Given the description of an element on the screen output the (x, y) to click on. 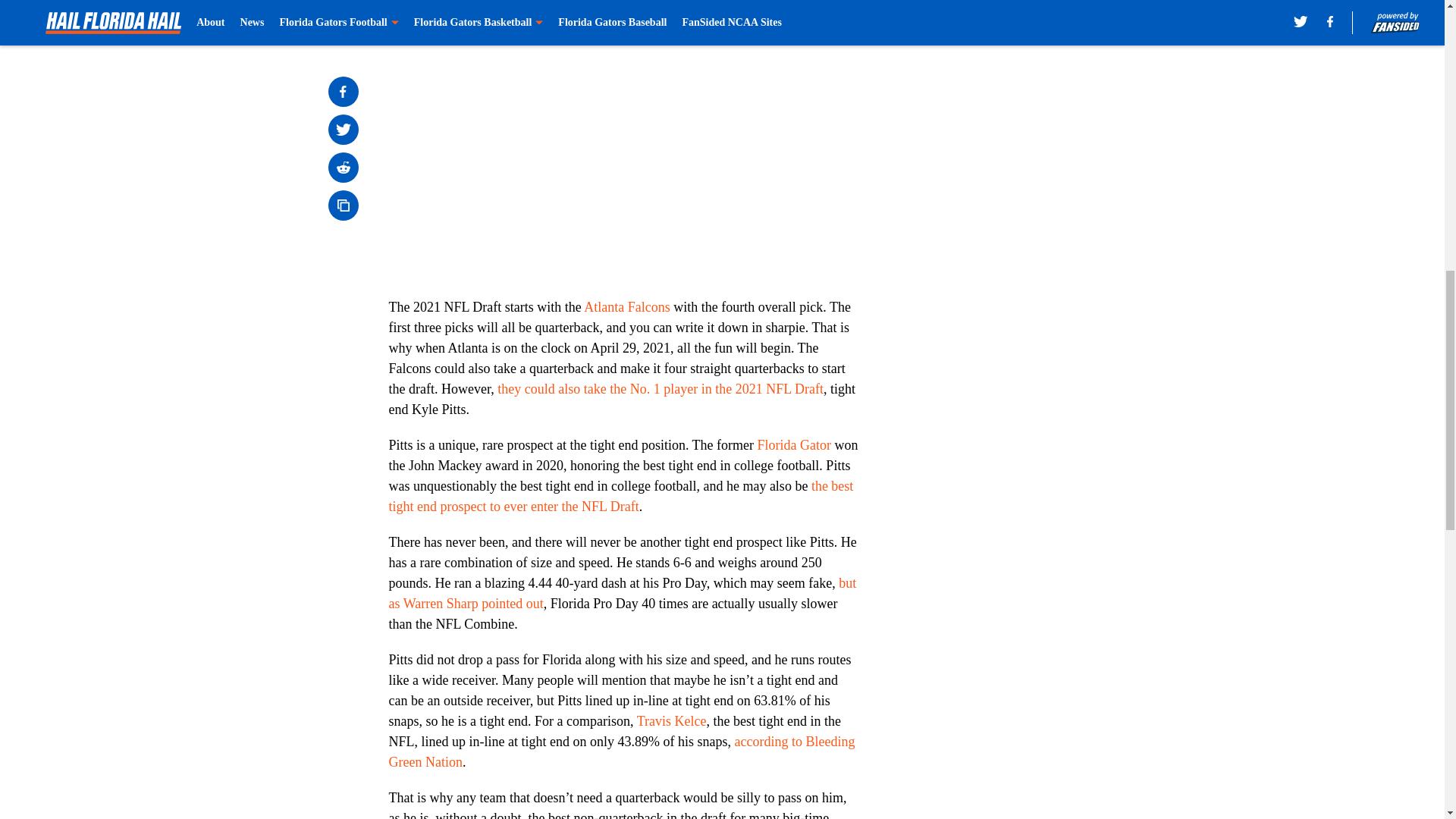
but as Warren Sharp pointed out (622, 592)
Travis Kelce (671, 720)
Florida Gator (794, 444)
the best tight end prospect to ever enter the NFL Draft (620, 496)
Atlanta Falcons (626, 306)
they could also take the No. 1 player in the 2021 NFL Draft (660, 388)
according to Bleeding Green Nation (621, 751)
